Given the description of an element on the screen output the (x, y) to click on. 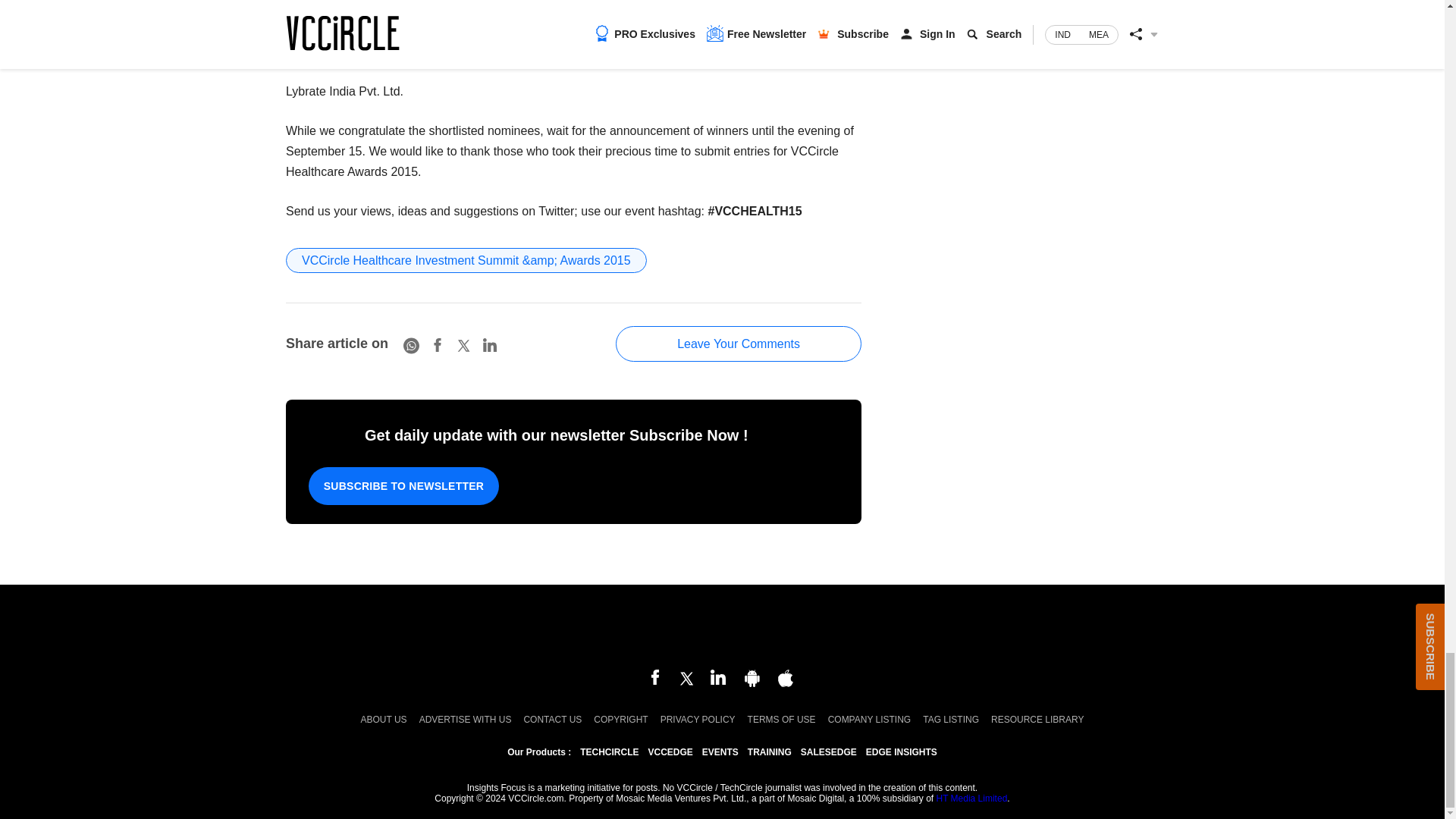
Mosaic Digital (721, 628)
SUBSCRIBE TO NEWSLETTER (403, 485)
Leave Your Comments (738, 343)
